Given the description of an element on the screen output the (x, y) to click on. 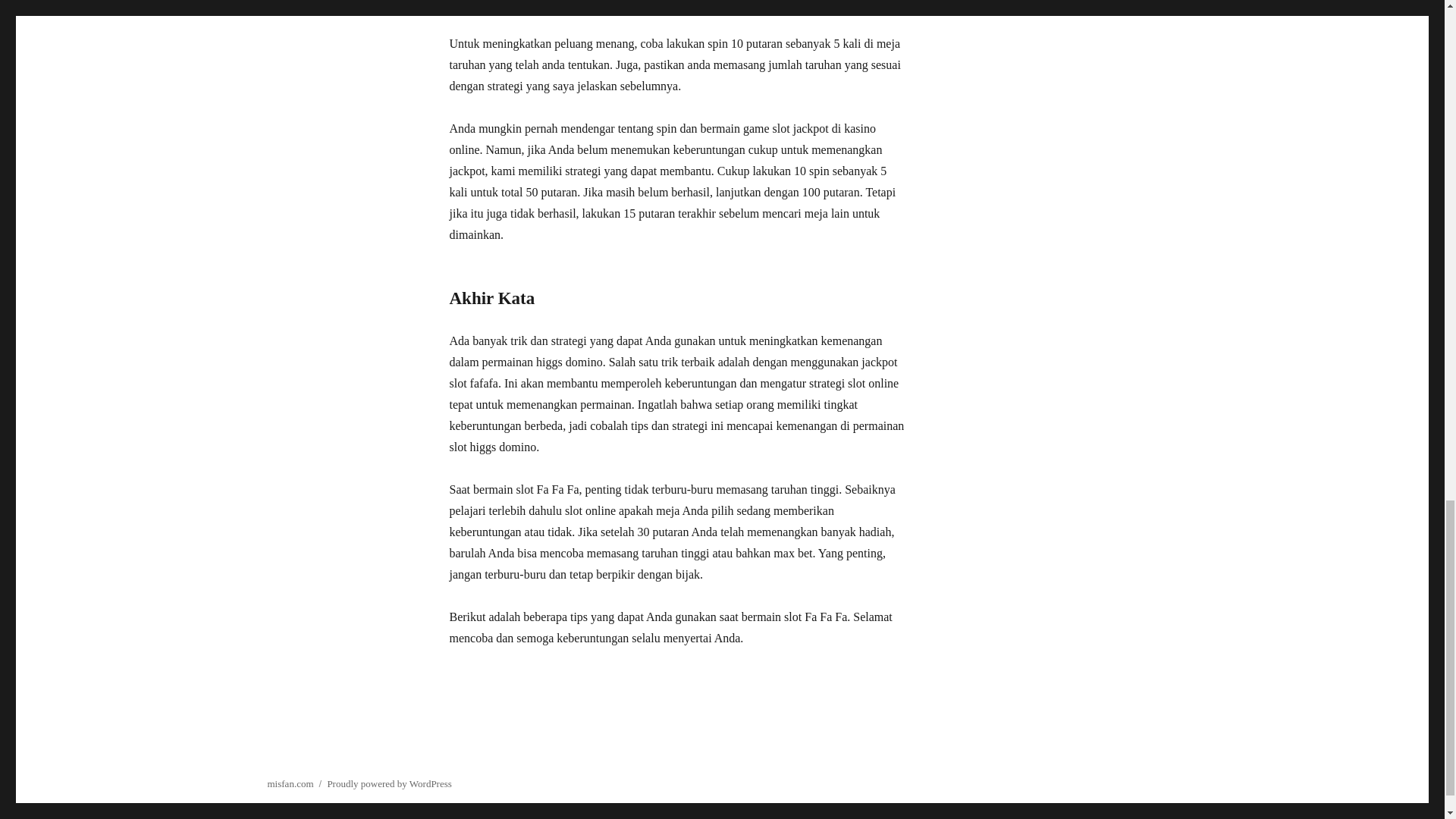
Proudly powered by WordPress (388, 783)
misfan.com (289, 783)
